Given the description of an element on the screen output the (x, y) to click on. 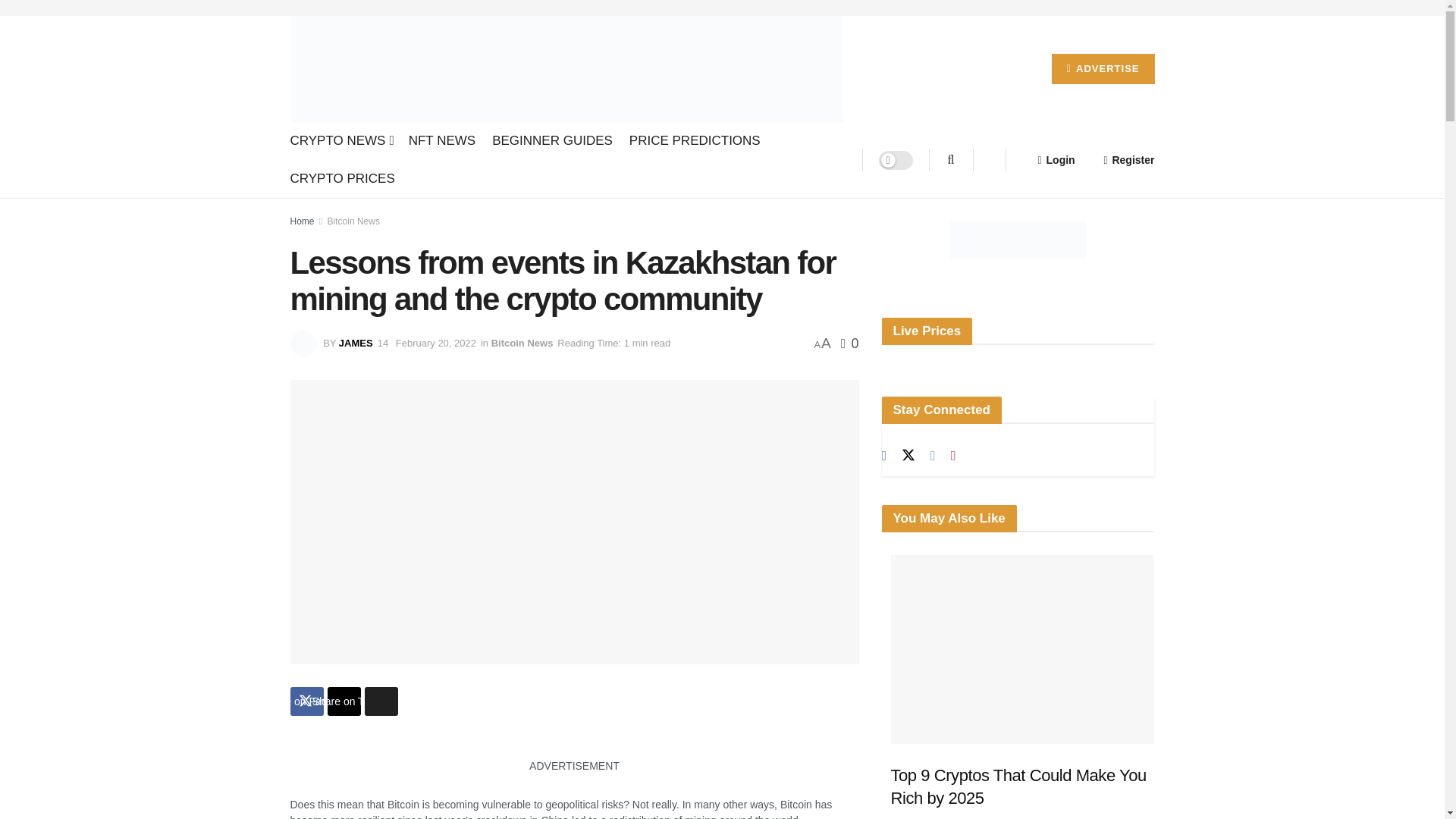
Login (1056, 159)
February 20, 2022 (436, 342)
BEGINNER GUIDES (552, 140)
Home (301, 221)
Bitcoin News (353, 221)
Bitcoin News (522, 342)
JAMES (355, 342)
0 (850, 343)
Register (1128, 159)
CRYPTO PRICES (341, 178)
PRICE PREDICTIONS (694, 140)
NFT NEWS (442, 140)
ADVERTISE (1102, 69)
CRYPTO NEWS (340, 140)
